Given the description of an element on the screen output the (x, y) to click on. 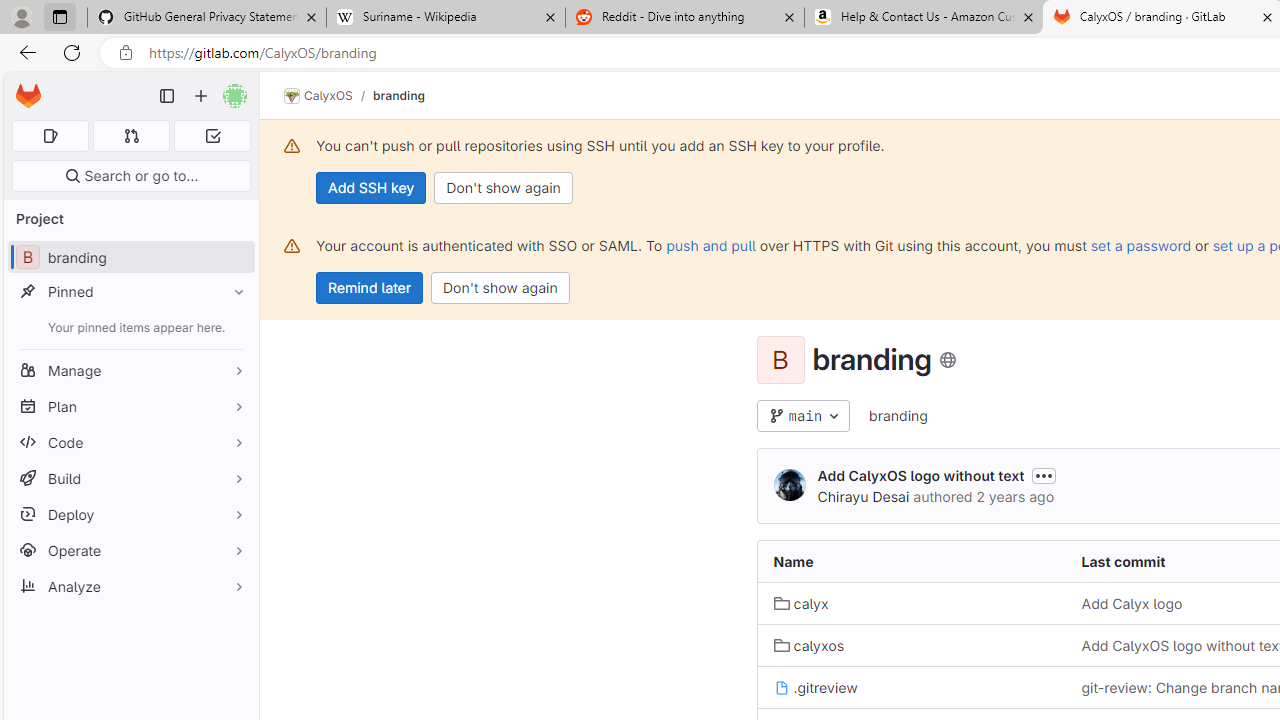
Code (130, 442)
Analyze (130, 586)
branding (898, 416)
.gitreview (911, 687)
Suriname - Wikipedia (445, 17)
Class: s16 gl-alert-icon gl-alert-icon-no-title (291, 246)
Analyze (130, 586)
calyx (801, 603)
Chirayu Desai (863, 496)
Pinned (130, 291)
Operate (130, 550)
push and pull (710, 245)
Add SSH key (371, 187)
